Given the description of an element on the screen output the (x, y) to click on. 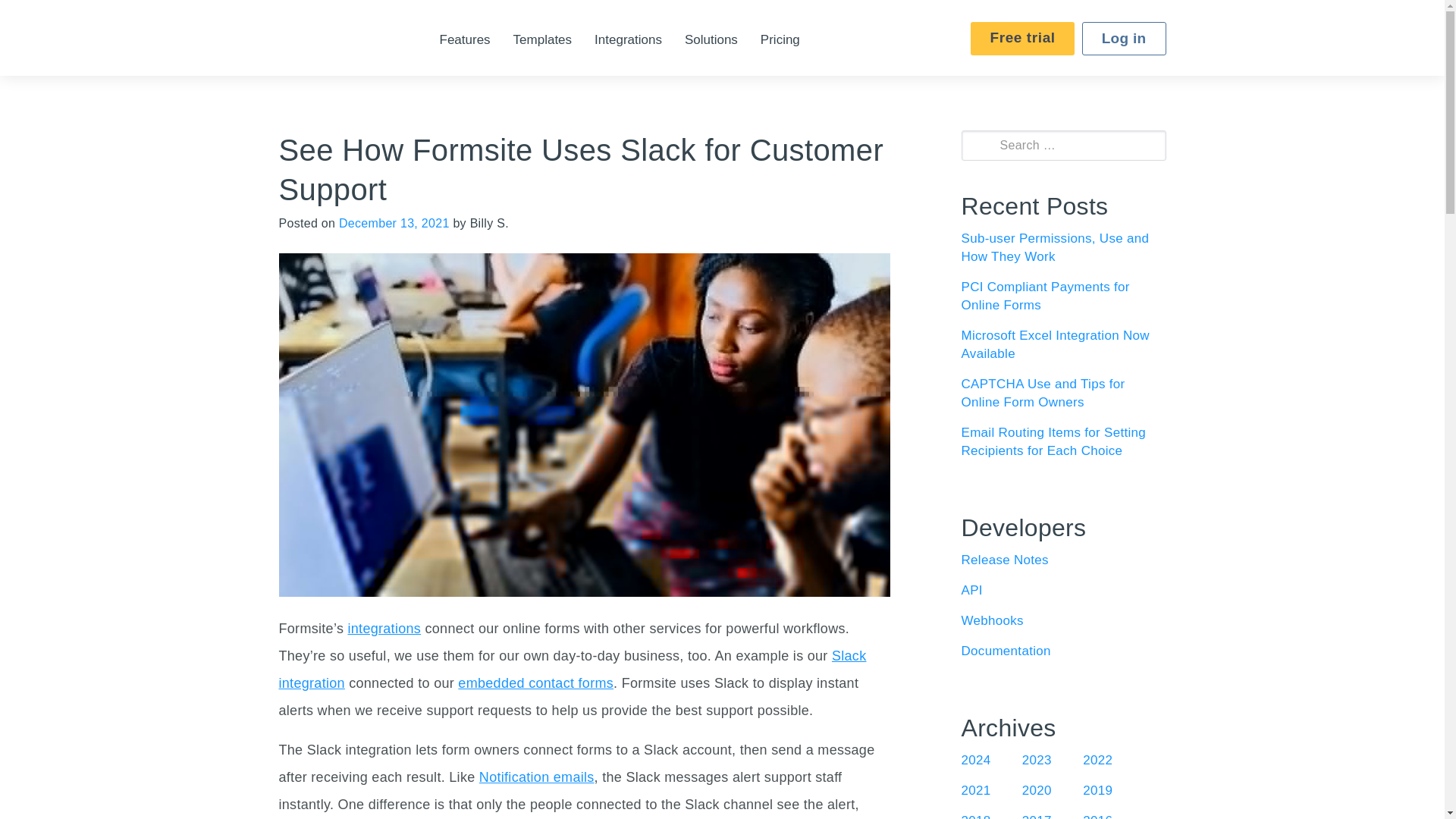
Solutions (711, 39)
Pricing (779, 39)
Integrations (628, 39)
Free trial (1022, 38)
Notification emails (536, 776)
Templates (542, 39)
integrations (383, 628)
Features (464, 39)
Pricing (779, 39)
Log in (1123, 38)
